Given the description of an element on the screen output the (x, y) to click on. 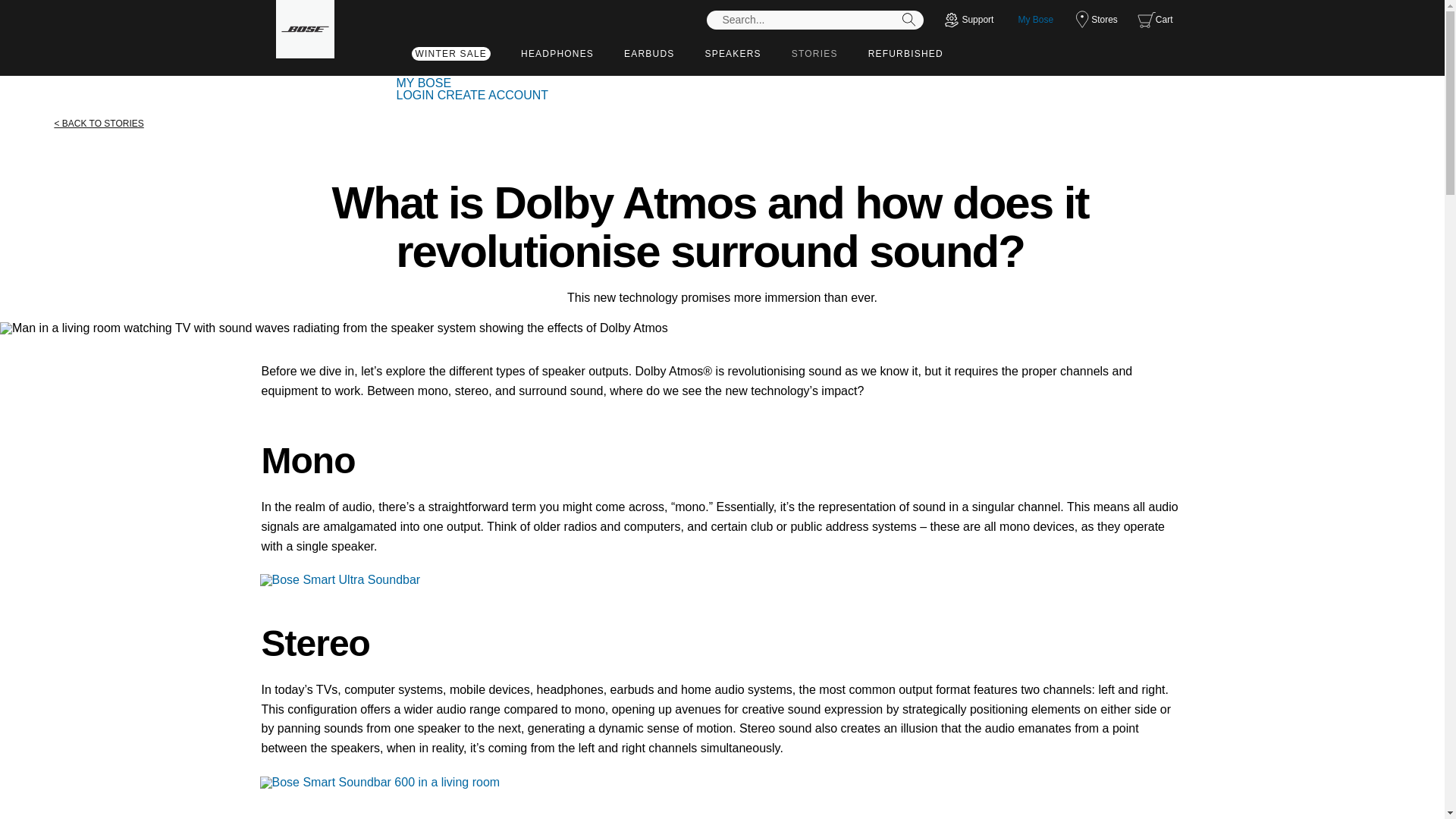
Stores (1097, 19)
Headphones (556, 53)
My Bose (1034, 19)
Support (967, 19)
WINTER SALE (450, 56)
HEADPHONES (556, 53)
Bose (305, 29)
Support (967, 19)
My Bose (1034, 19)
Cart (1157, 19)
Winter Sale (450, 56)
